Given the description of an element on the screen output the (x, y) to click on. 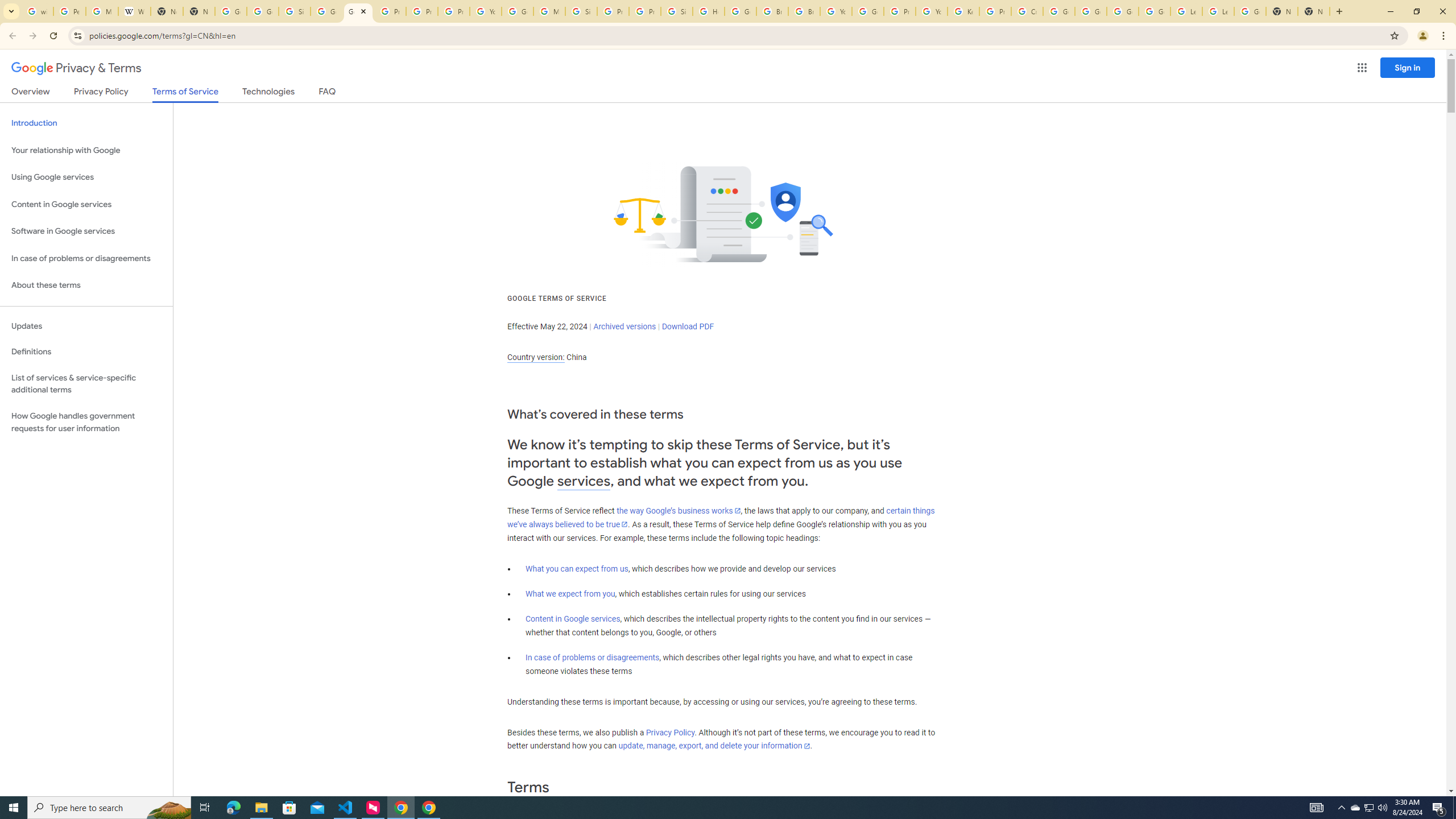
services (583, 480)
Download PDF (687, 326)
Wikipedia:Edit requests - Wikipedia (134, 11)
Google Account Help (1091, 11)
